Given the description of an element on the screen output the (x, y) to click on. 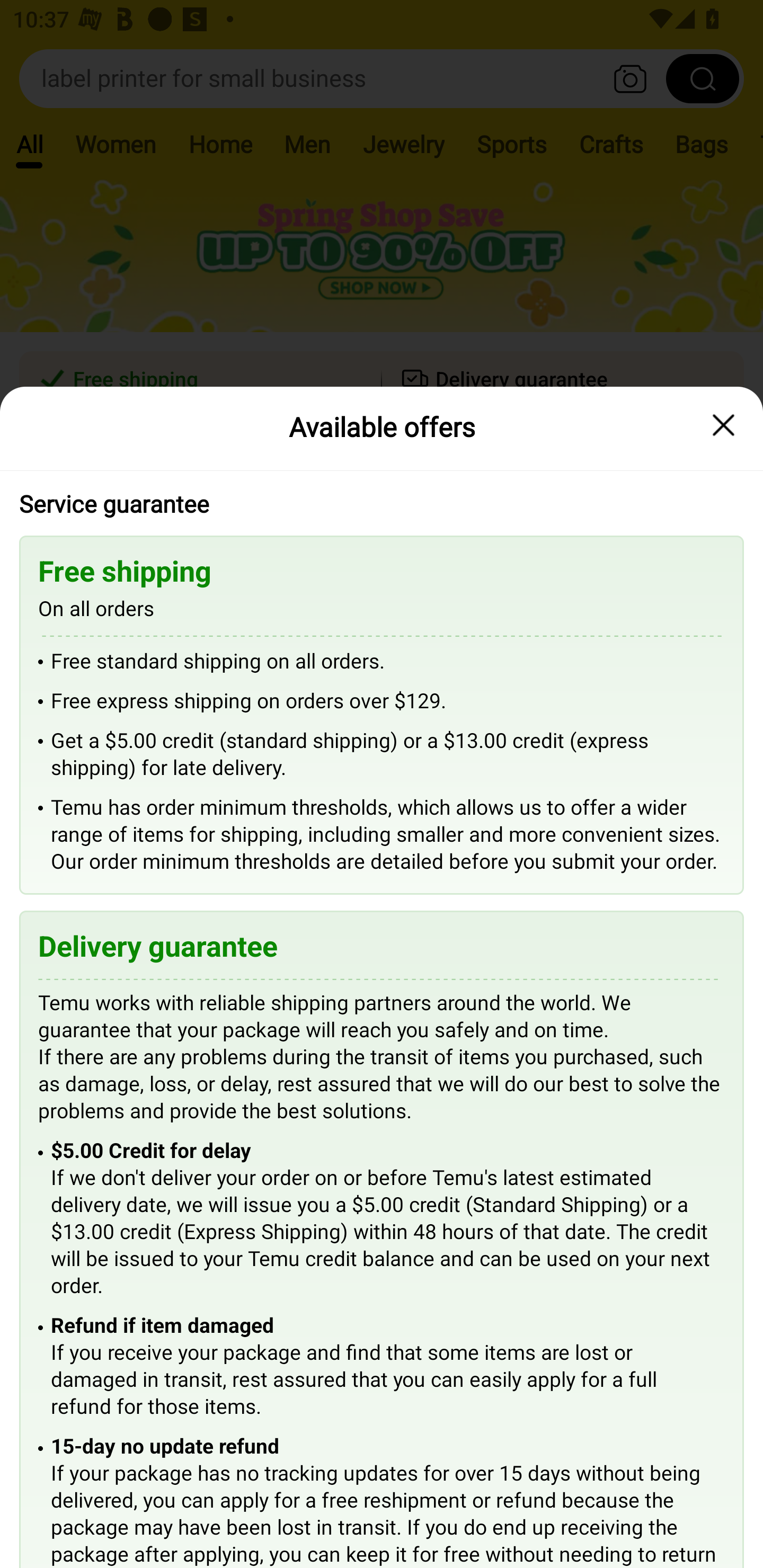
Lightning deals (379, 524)
